Given the description of an element on the screen output the (x, y) to click on. 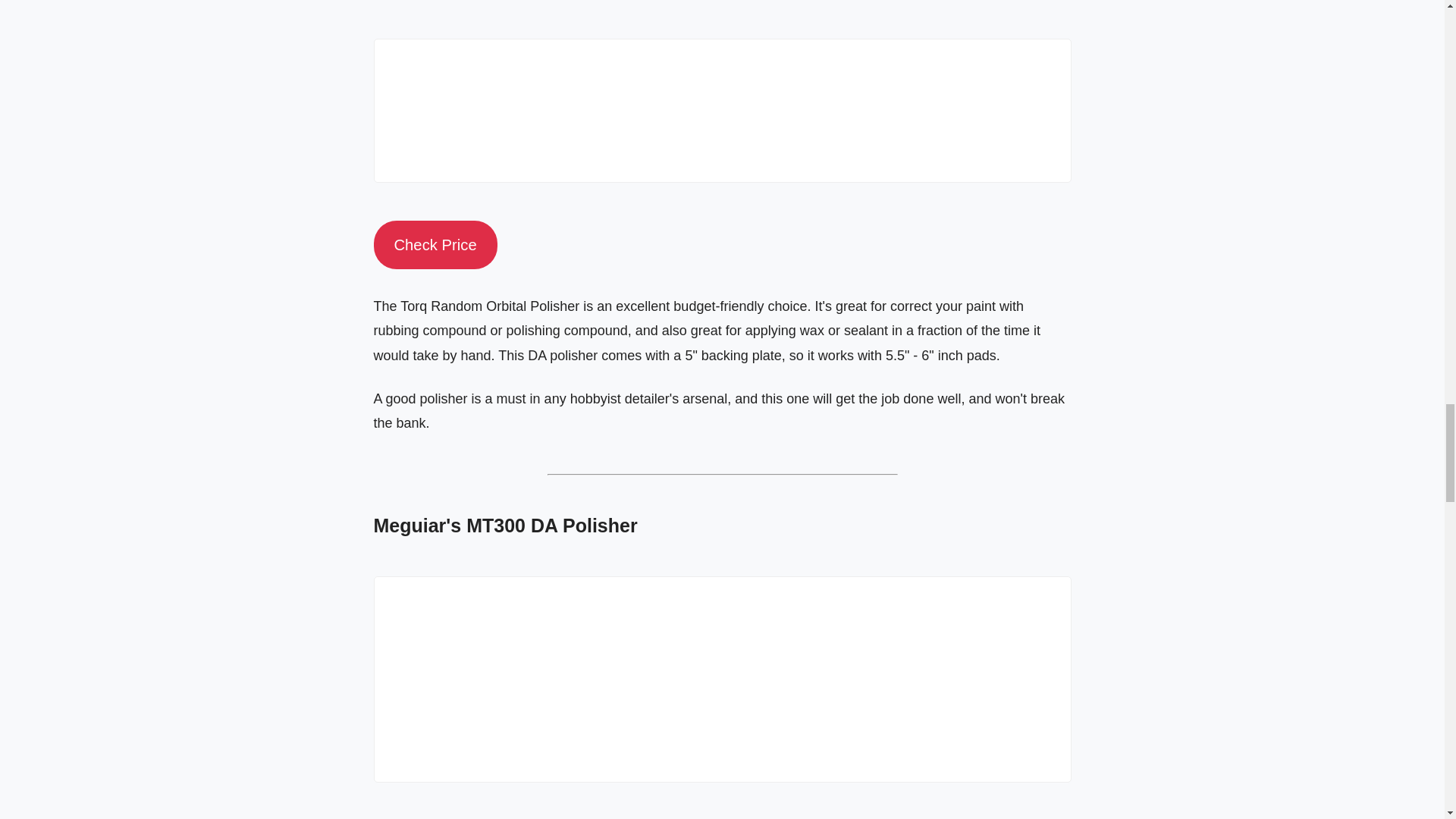
Check Price (434, 244)
